Given the description of an element on the screen output the (x, y) to click on. 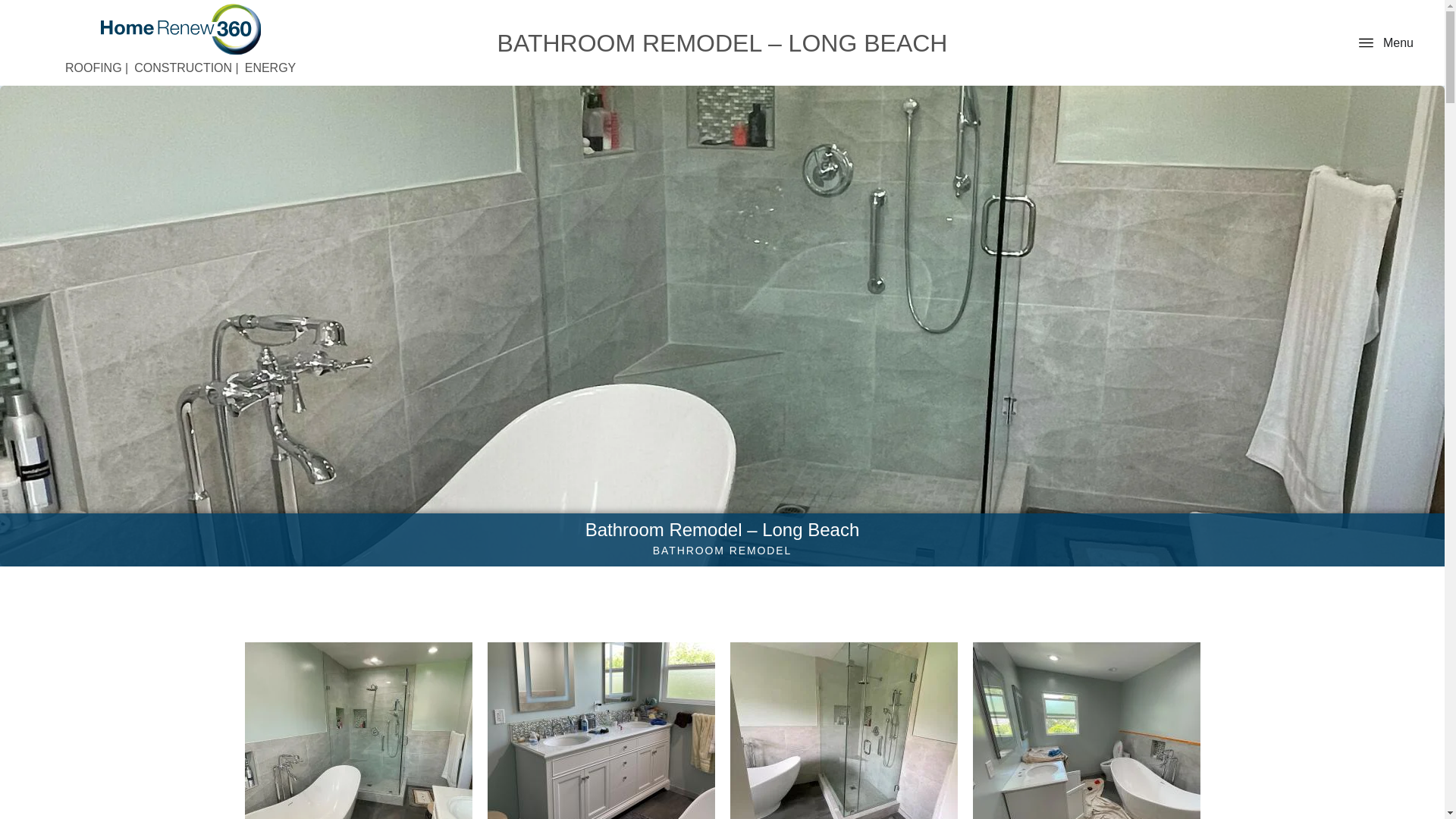
ENERGY (270, 67)
